Given the description of an element on the screen output the (x, y) to click on. 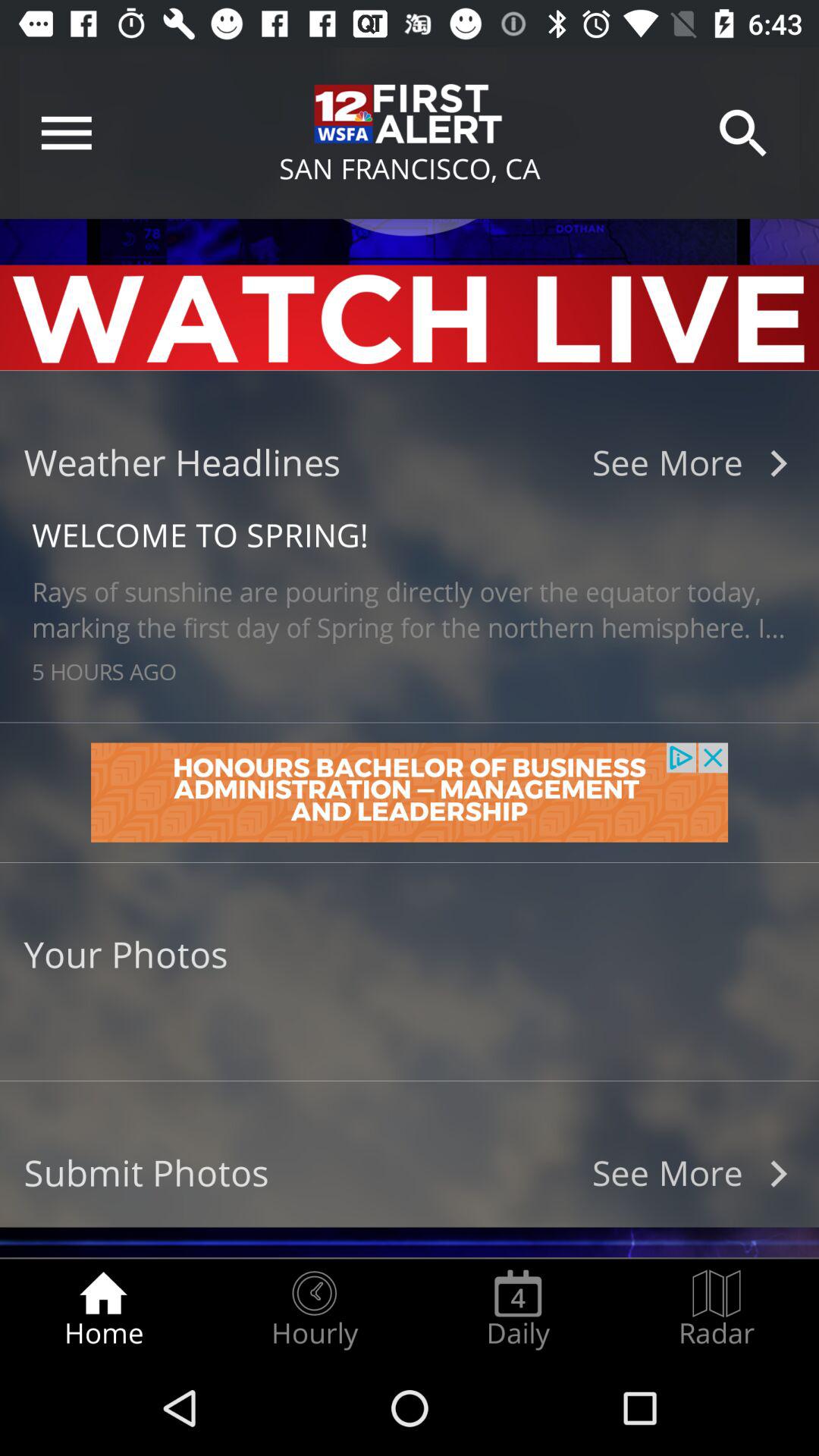
tap home icon (103, 1309)
